Given the description of an element on the screen output the (x, y) to click on. 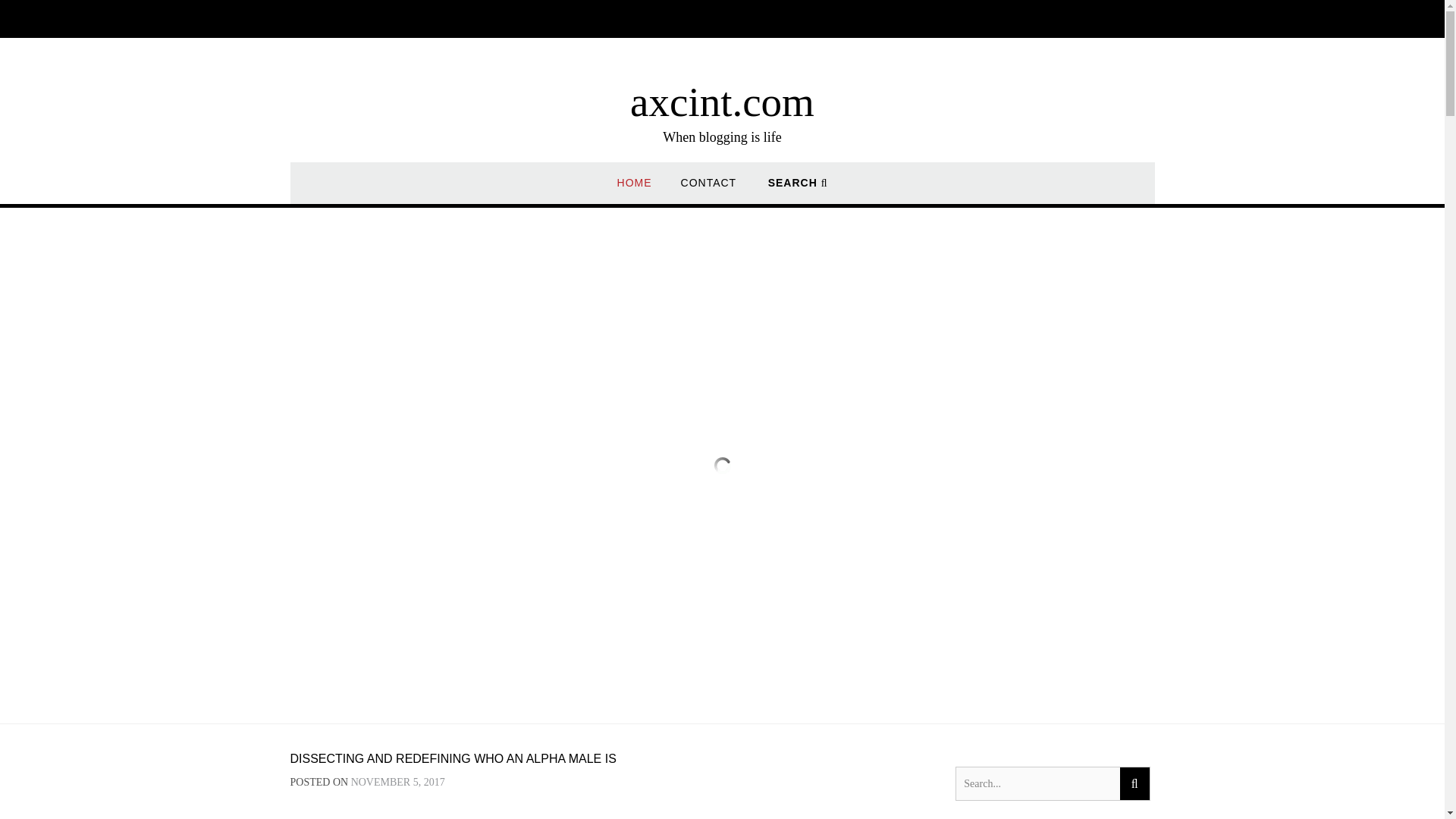
axcint.com (721, 102)
DISSECTING AND REDEFINING WHO AN ALPHA MALE IS (452, 758)
Search for: (1037, 783)
axcint.com (721, 102)
CONTACT (708, 189)
SEARCH (798, 189)
HOME (634, 189)
NOVEMBER 5, 2017 (397, 781)
